Given the description of an element on the screen output the (x, y) to click on. 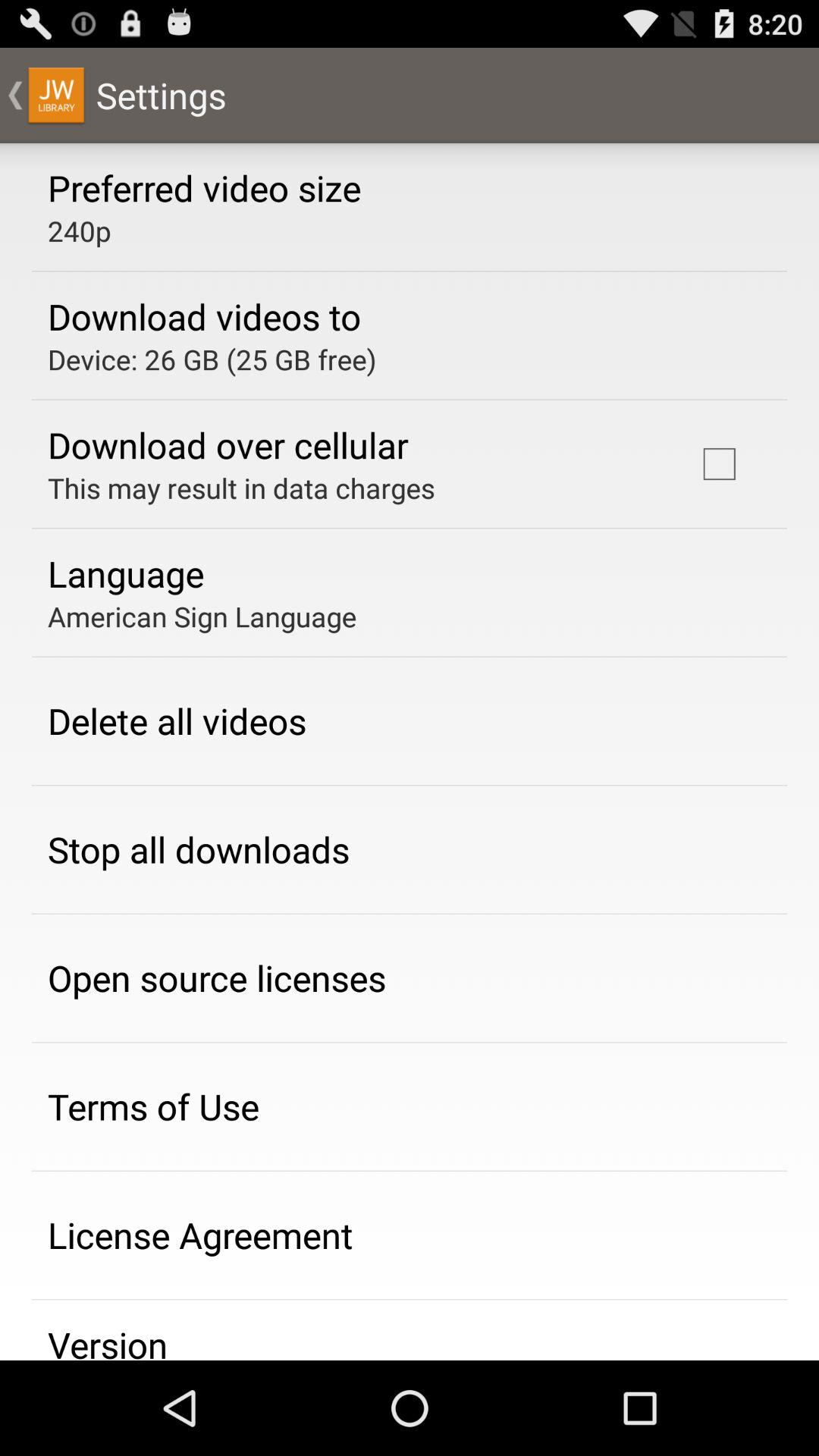
click the item above language item (241, 487)
